Given the description of an element on the screen output the (x, y) to click on. 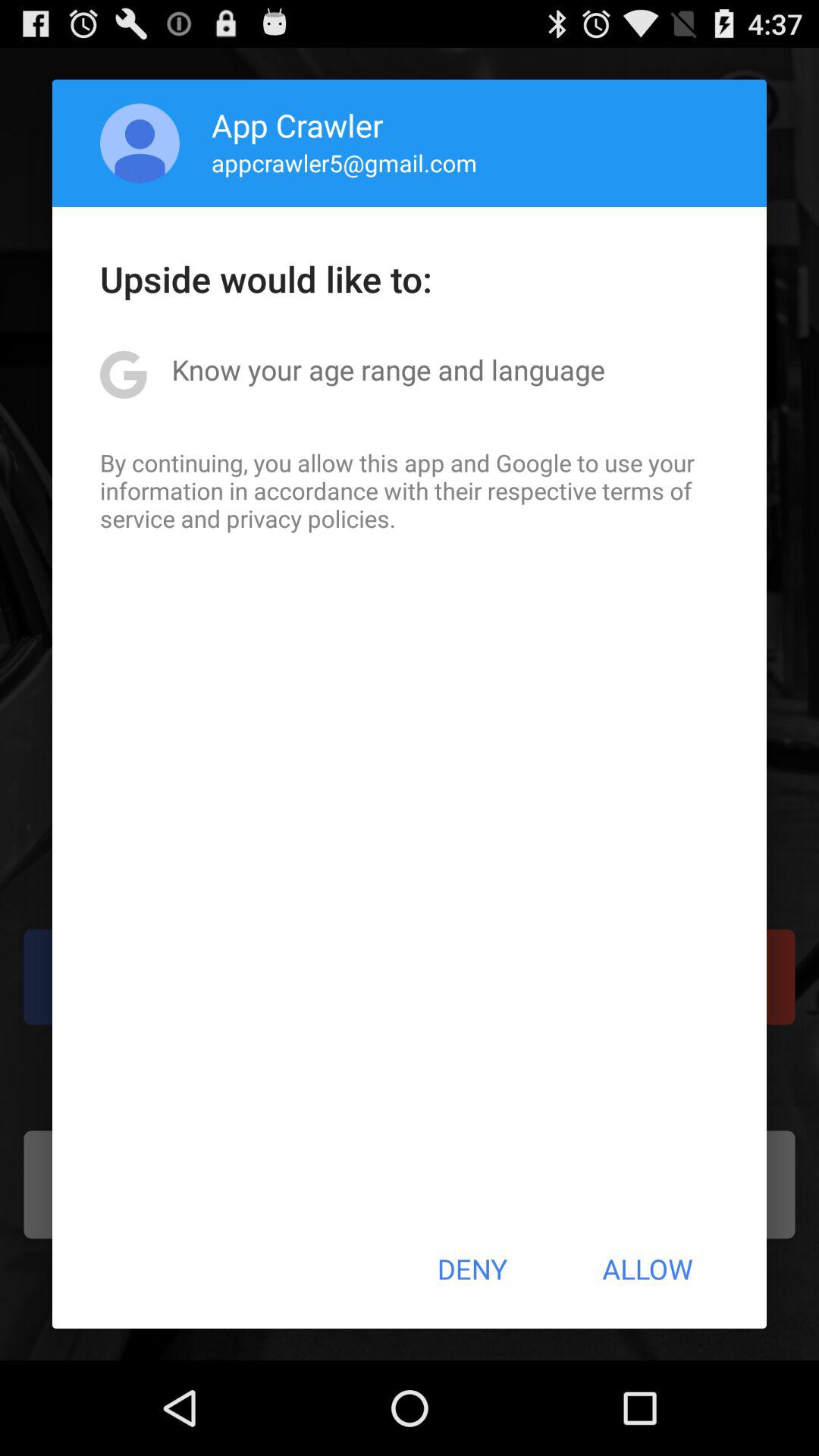
press app above upside would like (139, 143)
